Given the description of an element on the screen output the (x, y) to click on. 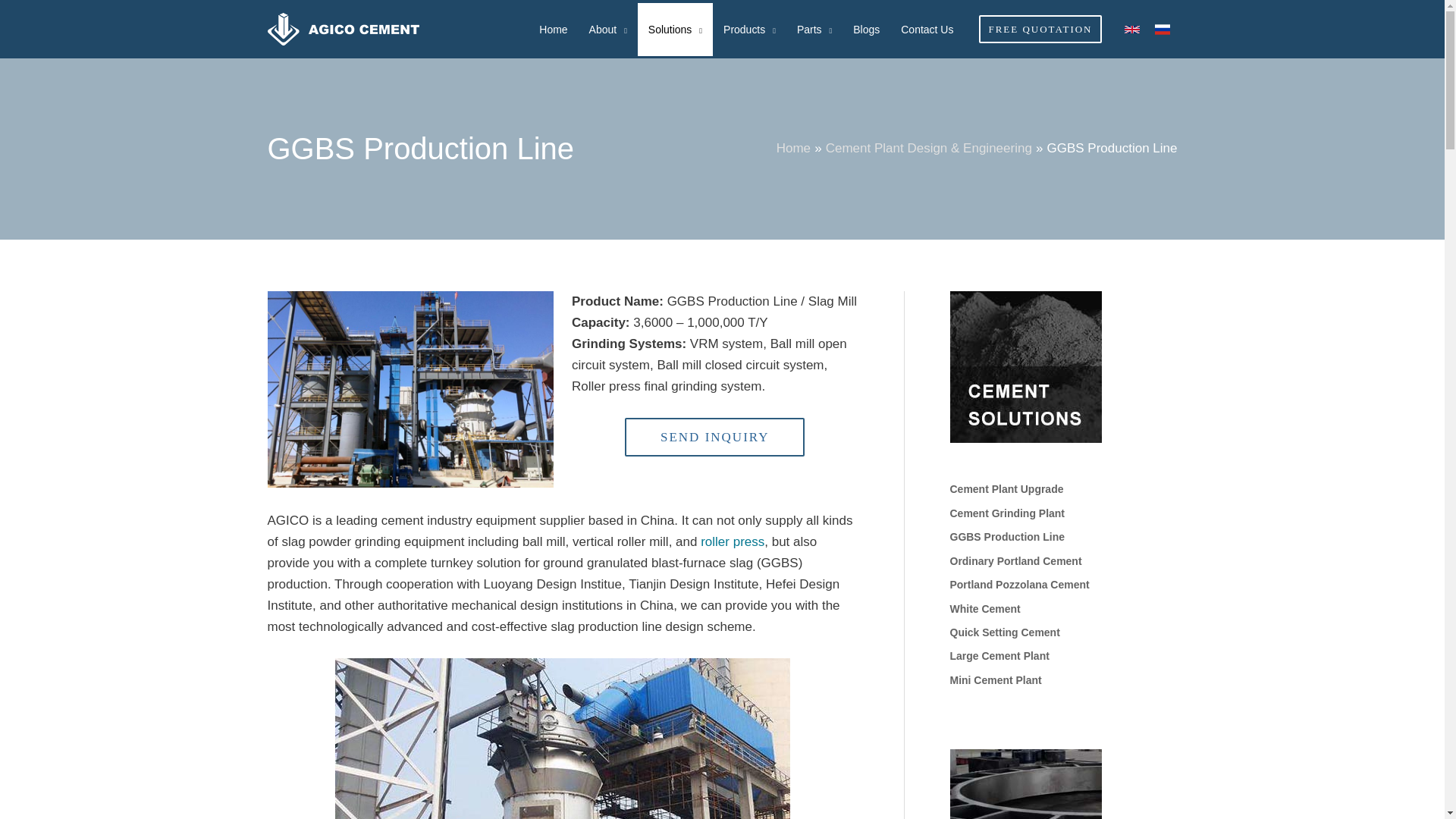
Home (553, 29)
Solutions (675, 29)
About (607, 29)
Products (749, 29)
